Given the description of an element on the screen output the (x, y) to click on. 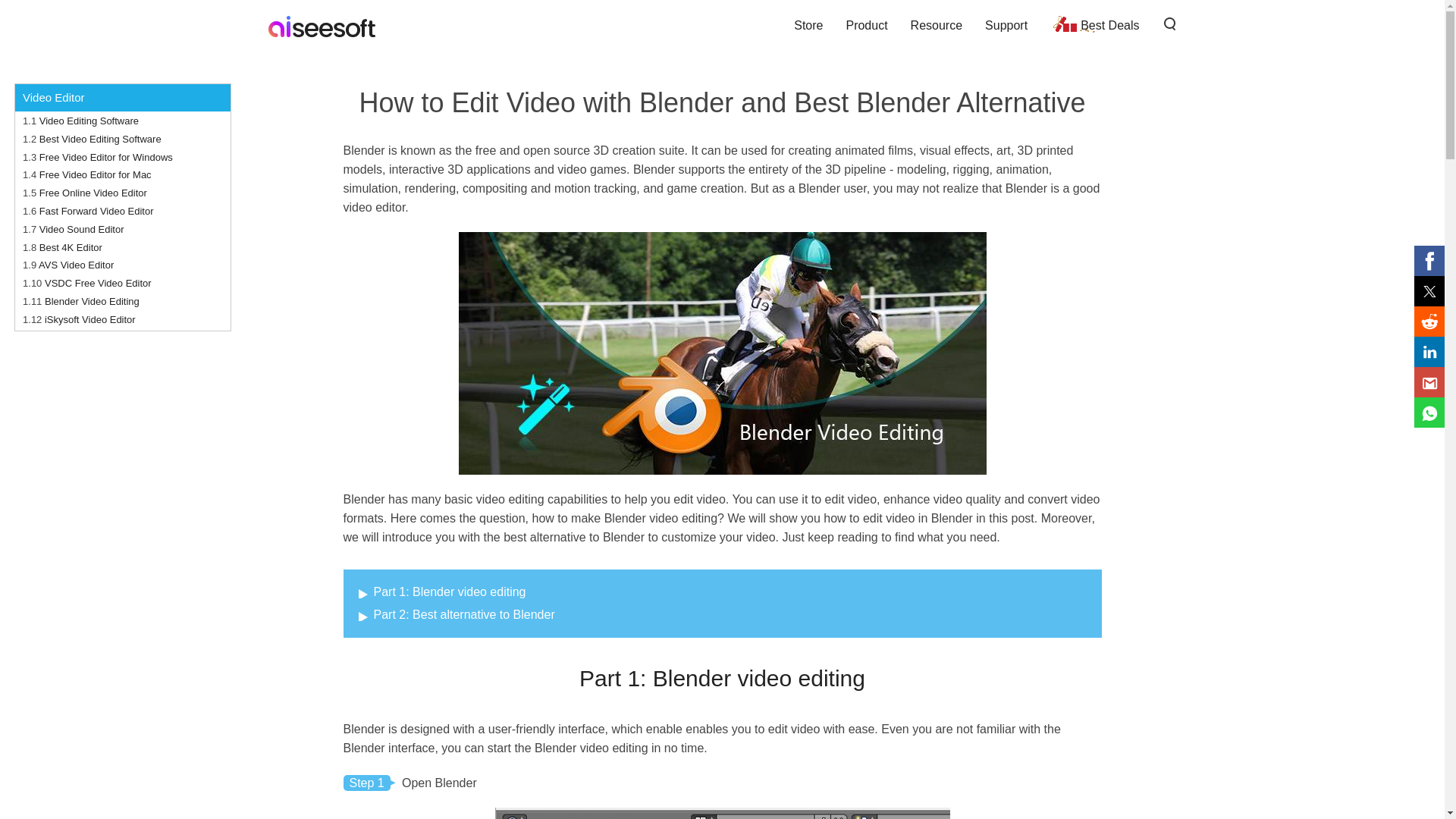
Store (807, 24)
iSkysoft Video Editor (90, 319)
Free Video Editor for Windows (106, 156)
Part 2: Best alternative to Blender (456, 614)
Video Editing Software (88, 120)
Video Sound Editor (81, 229)
Best Deals (1093, 25)
VSDC Free Video Editor (98, 283)
Free Video Editor for Mac (95, 174)
Blender Video Editing (92, 301)
